Given the description of an element on the screen output the (x, y) to click on. 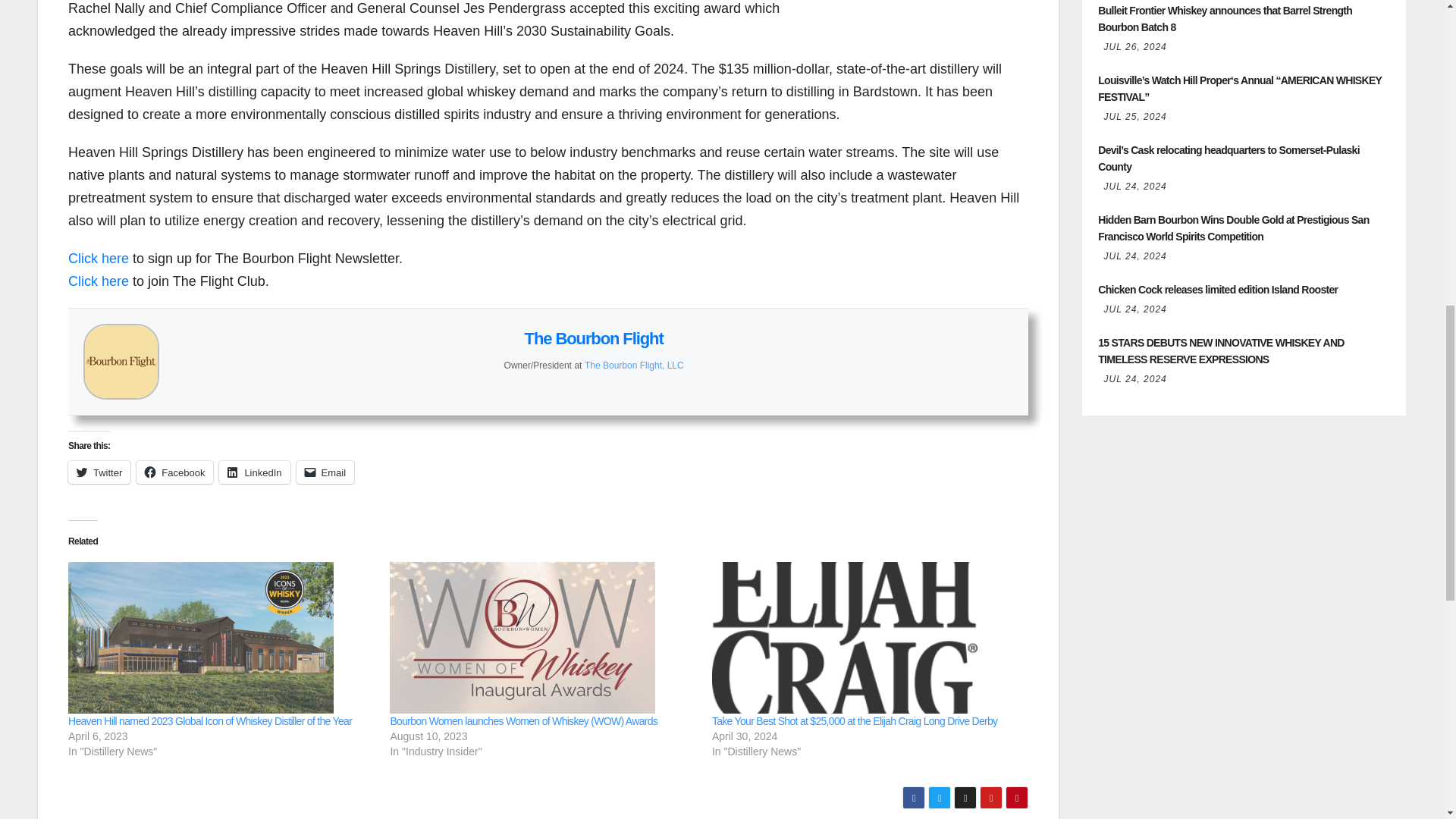
Click here (98, 281)
Click here (98, 258)
